Given the description of an element on the screen output the (x, y) to click on. 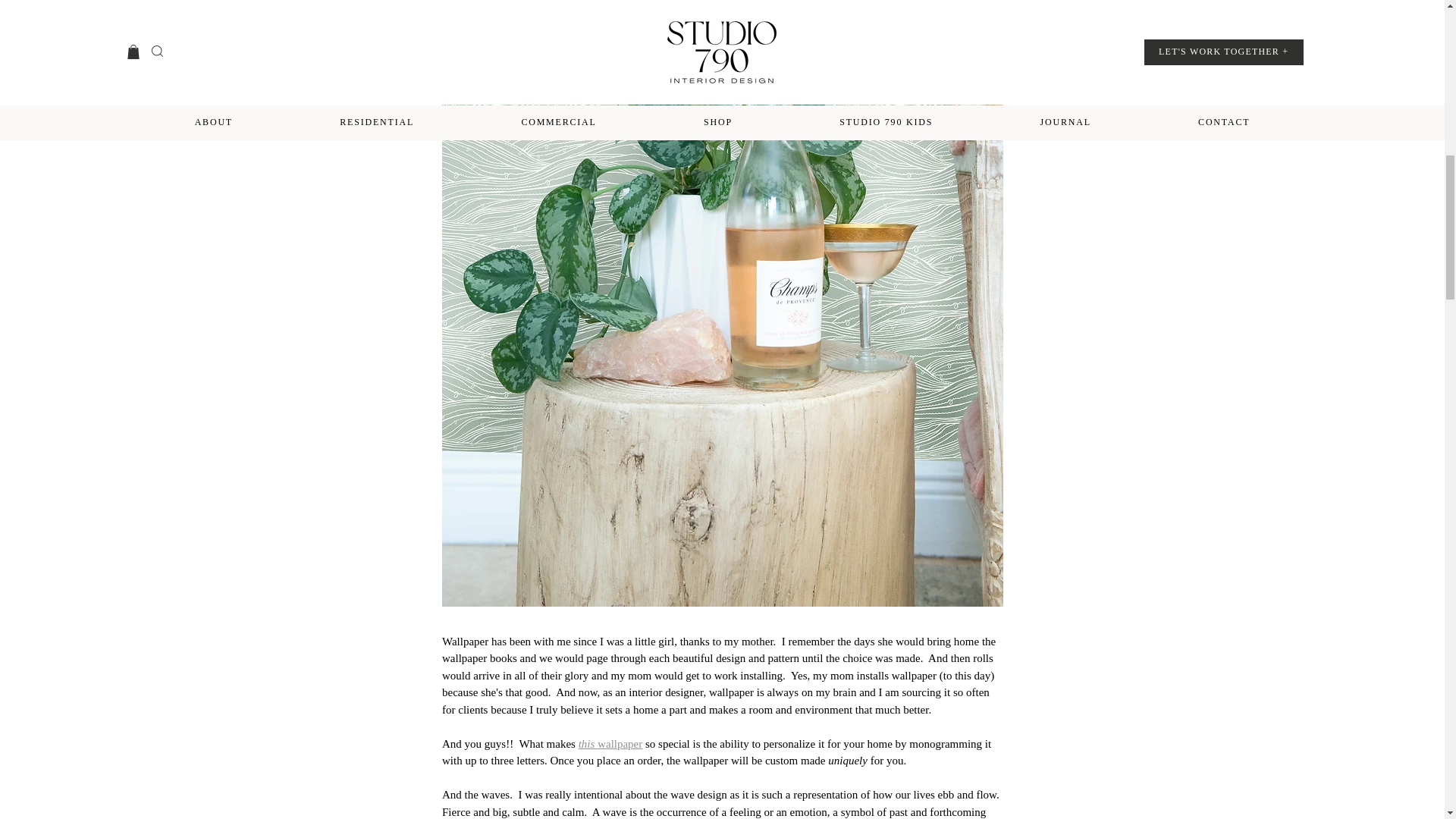
this  (587, 743)
wallpaper (619, 743)
